Given the description of an element on the screen output the (x, y) to click on. 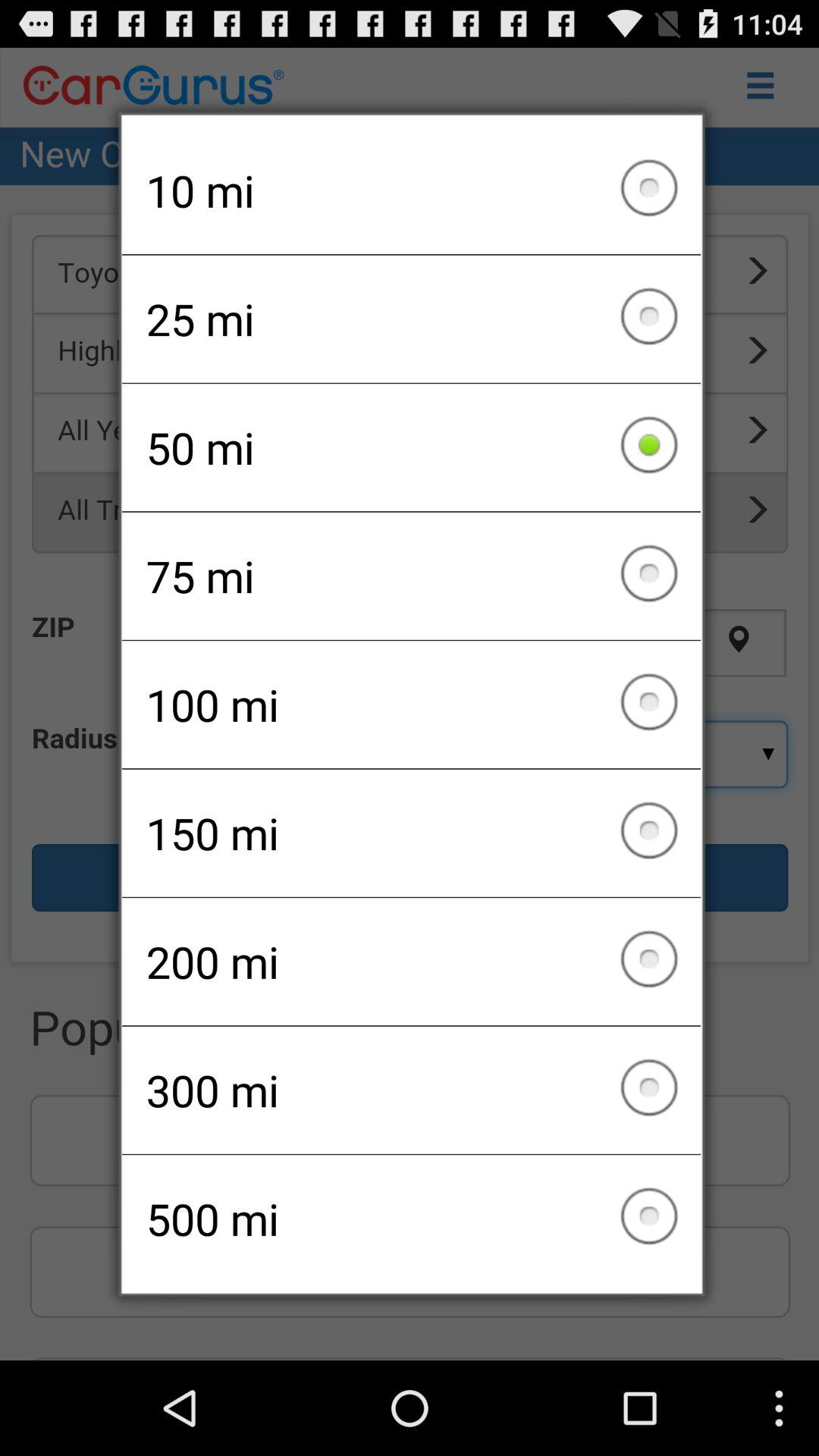
click item below the 300 mi (411, 1218)
